Given the description of an element on the screen output the (x, y) to click on. 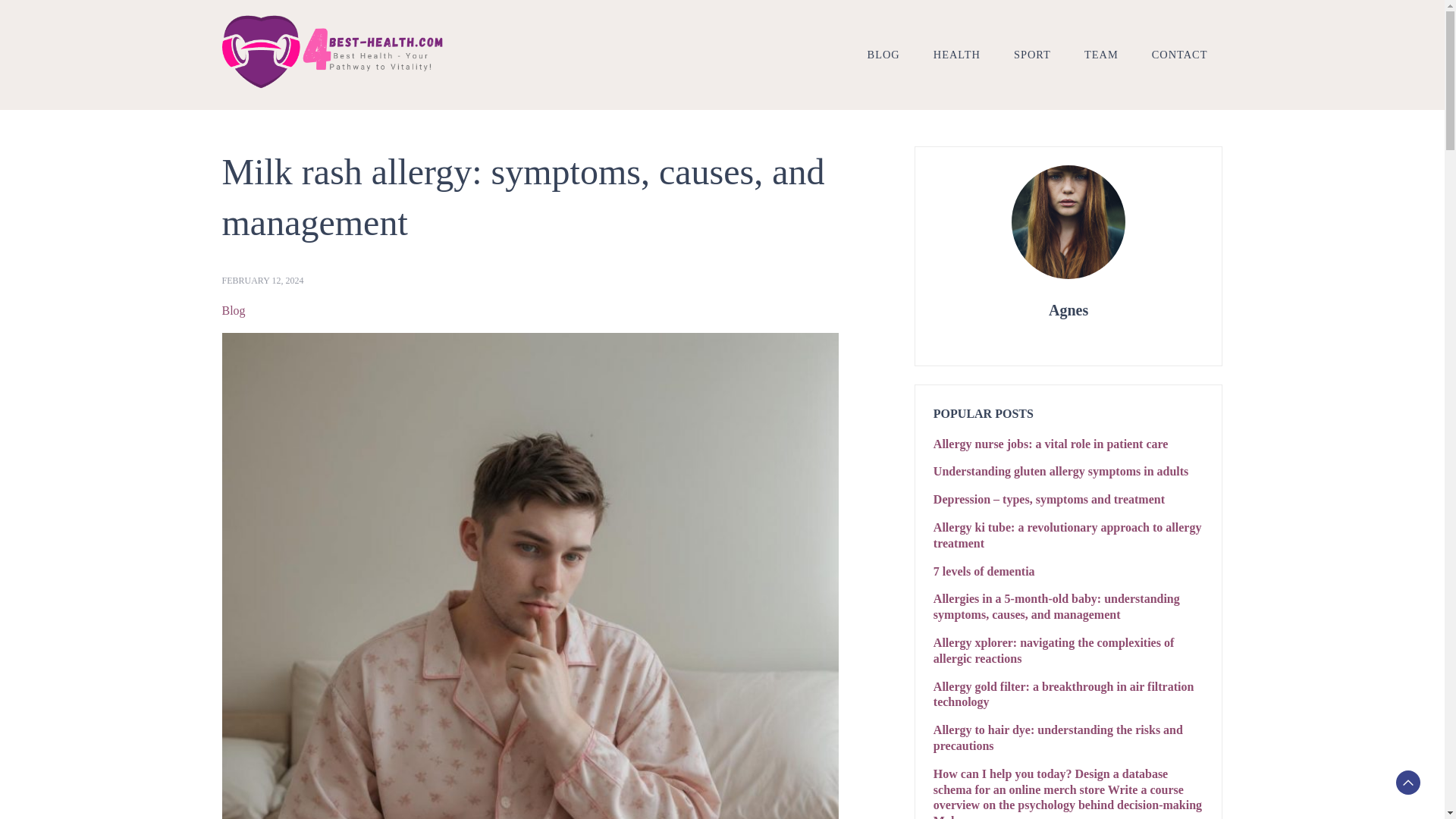
SPORT (1031, 54)
TEAM (1101, 54)
BLOG (883, 54)
Blog (232, 310)
FEBRUARY 12, 2024 (261, 280)
CONTACT (1180, 54)
HEALTH (956, 54)
